Given the description of an element on the screen output the (x, y) to click on. 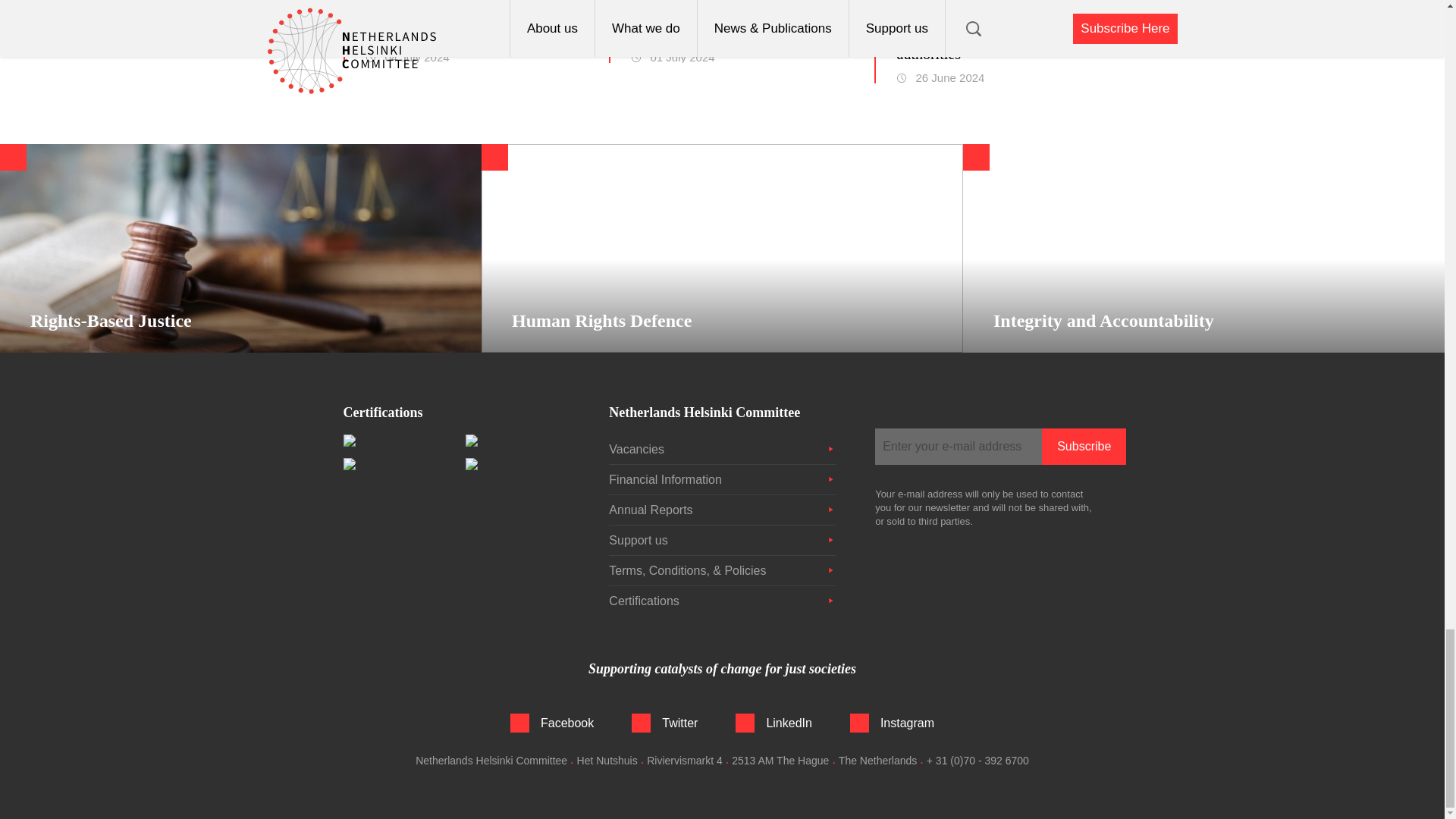
Subscribe (1083, 446)
